Given the description of an element on the screen output the (x, y) to click on. 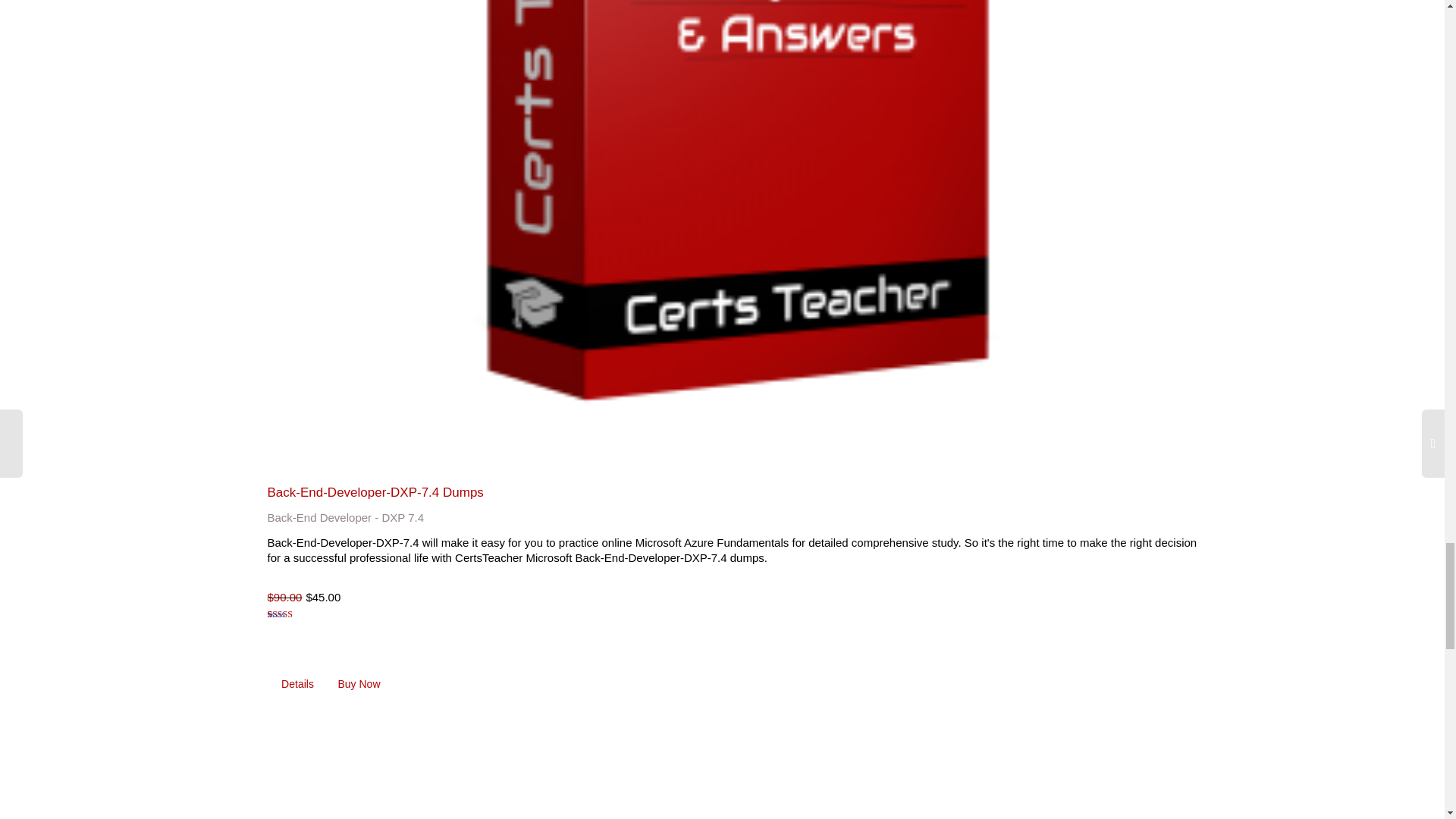
Details (296, 684)
Buy Now (358, 684)
Back-End-Developer-DXP-7.4 Dumps (374, 492)
